Given the description of an element on the screen output the (x, y) to click on. 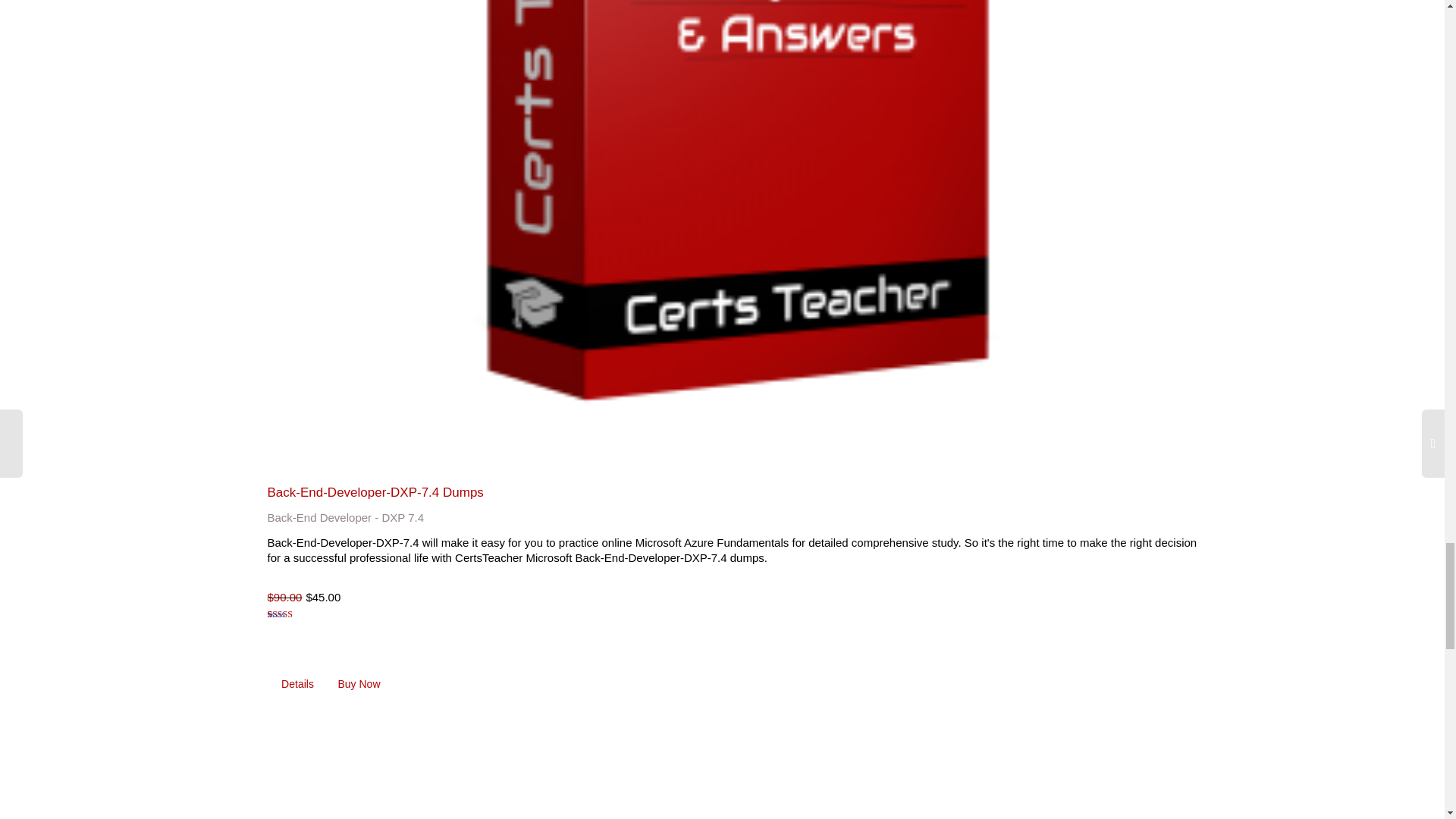
Details (296, 684)
Buy Now (358, 684)
Back-End-Developer-DXP-7.4 Dumps (374, 492)
